Given the description of an element on the screen output the (x, y) to click on. 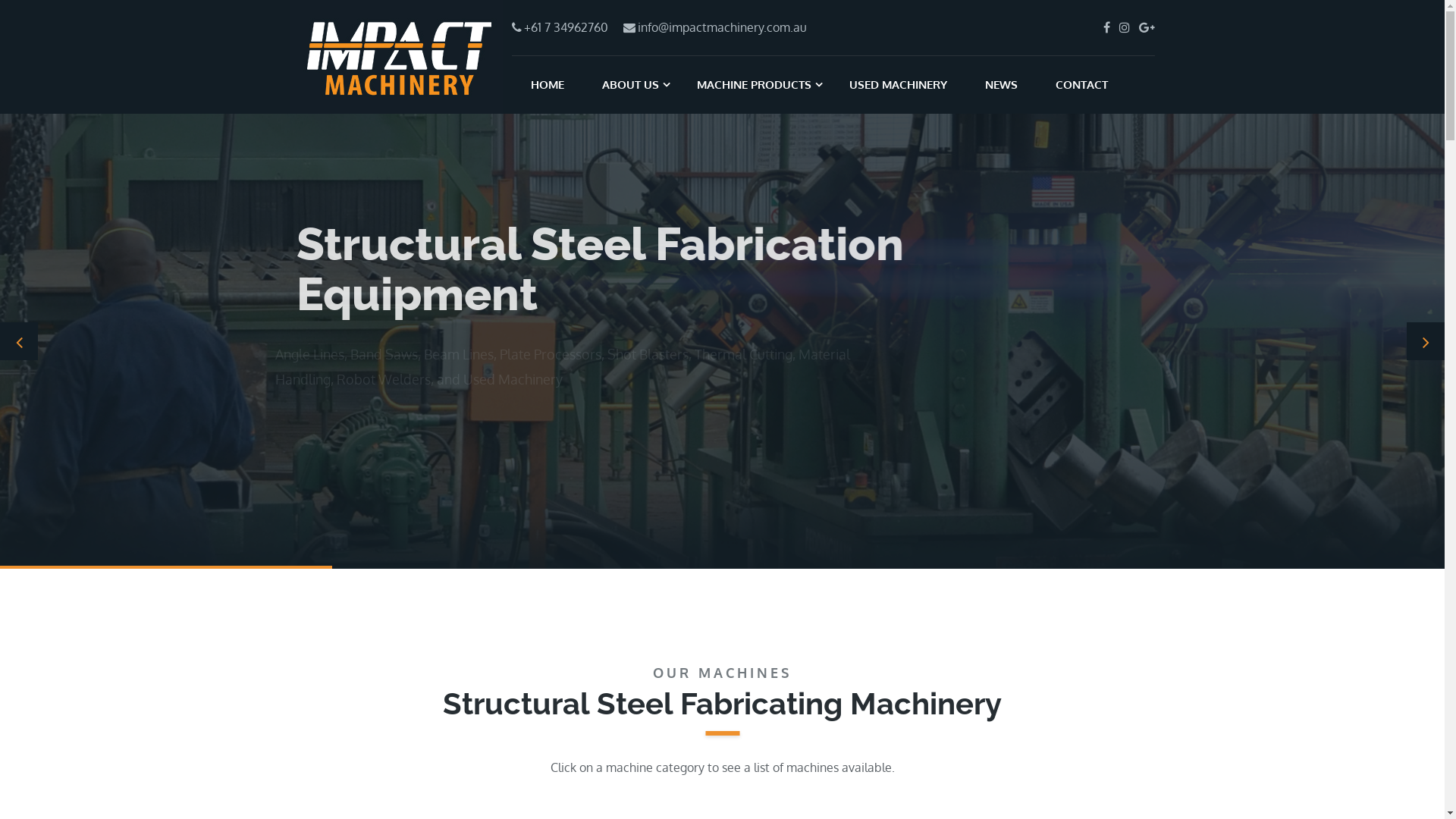
CONTACT Element type: text (1081, 84)
NEWS Element type: text (1001, 84)
USED MACHINERY Element type: text (898, 84)
MACHINE PRODUCTS Element type: text (753, 84)
HOME Element type: text (547, 84)
CONTACT US Element type: text (467, 421)
MORE INFO Element type: text (352, 421)
ABOUT US Element type: text (630, 84)
